Given the description of an element on the screen output the (x, y) to click on. 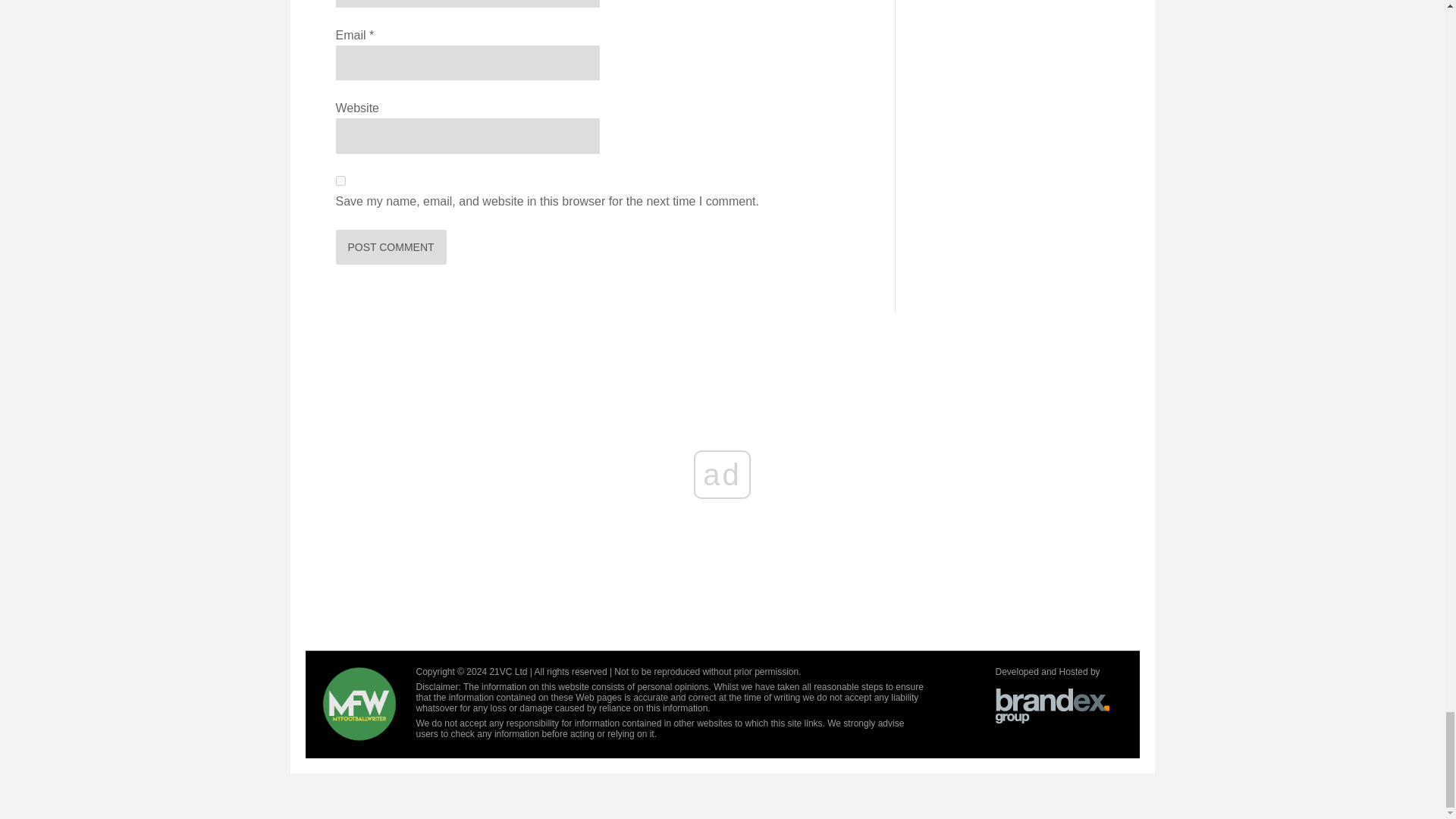
yes (339, 180)
Post Comment (389, 247)
